Given the description of an element on the screen output the (x, y) to click on. 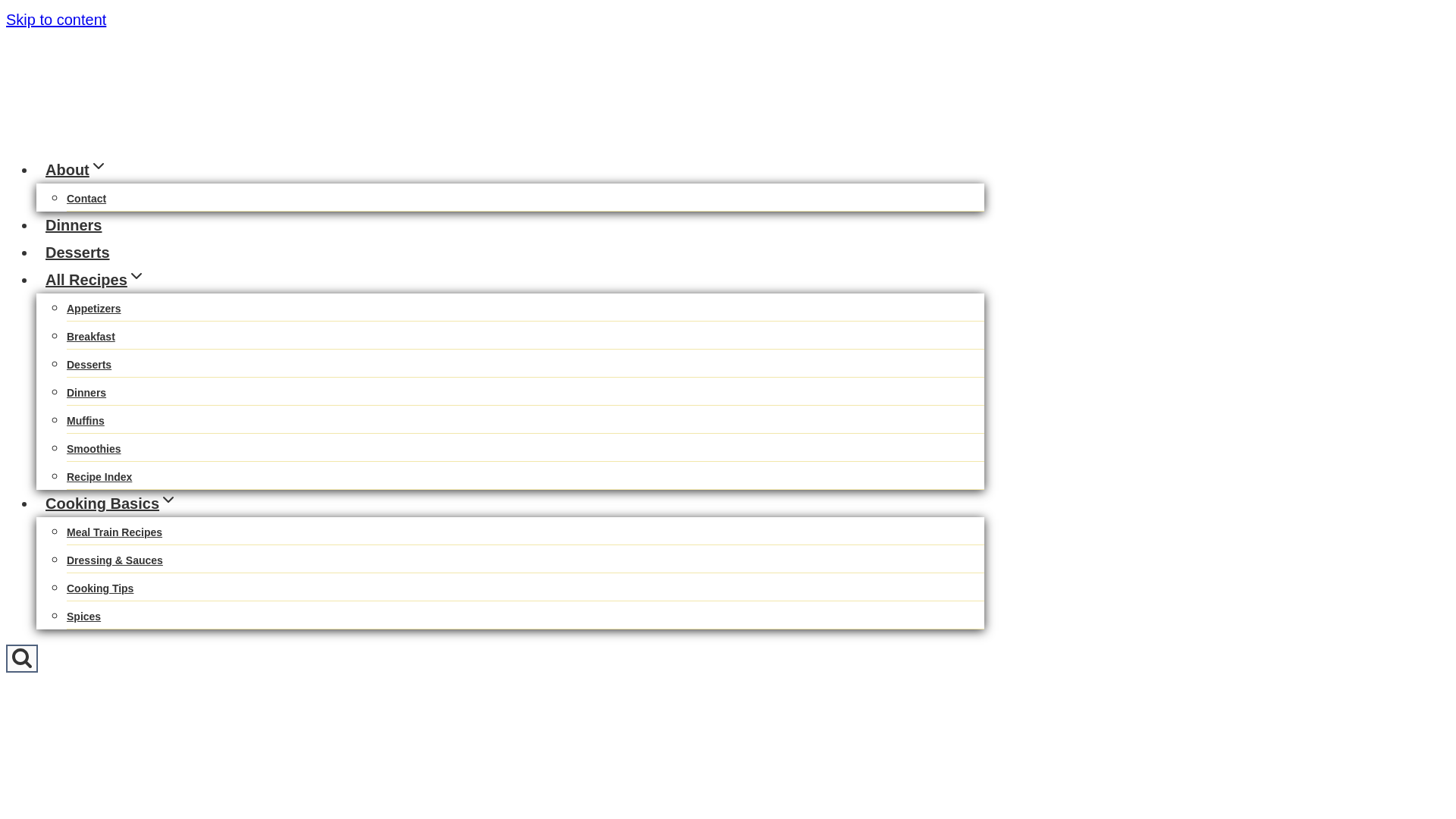
Smoothies (93, 449)
Skip to content (55, 19)
Spices (83, 616)
Cooking Tips (99, 588)
Expand (136, 275)
Appetizers (93, 308)
All RecipesExpand (95, 279)
Recipe Index (99, 476)
Meal Train Recipes (113, 531)
Desserts (77, 252)
Expand (97, 166)
Muffins (85, 420)
Breakfast (90, 336)
AboutExpand (76, 169)
Skip to content (55, 19)
